Given the description of an element on the screen output the (x, y) to click on. 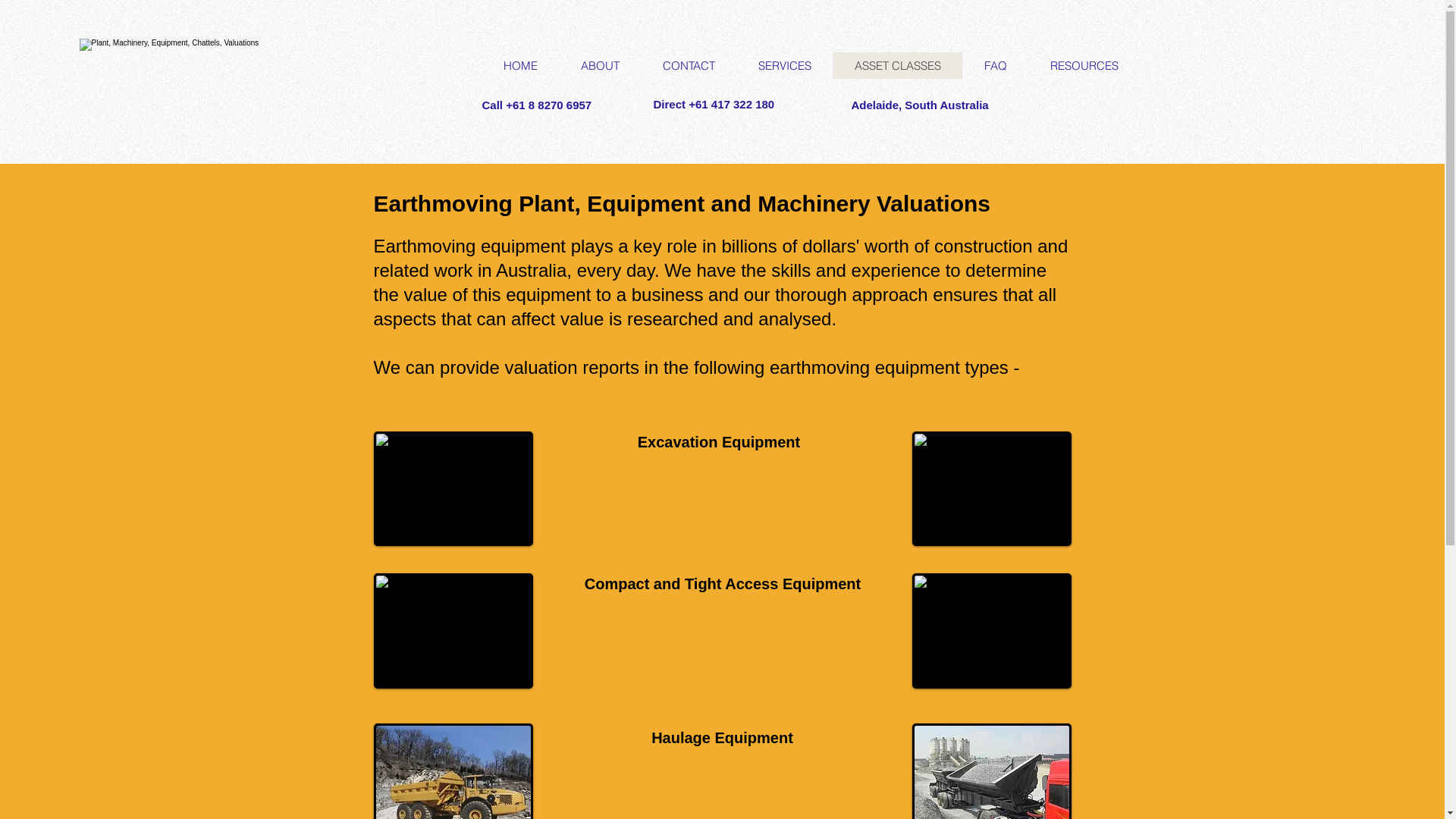
ABOUT Element type: text (599, 65)
CONTACT Element type: text (687, 65)
HOME Element type: text (520, 65)
FAQ Element type: text (994, 65)
SERVICES Element type: text (783, 65)
RESOURCES Element type: text (1083, 65)
ASSET CLASSES Element type: text (897, 65)
